Given the description of an element on the screen output the (x, y) to click on. 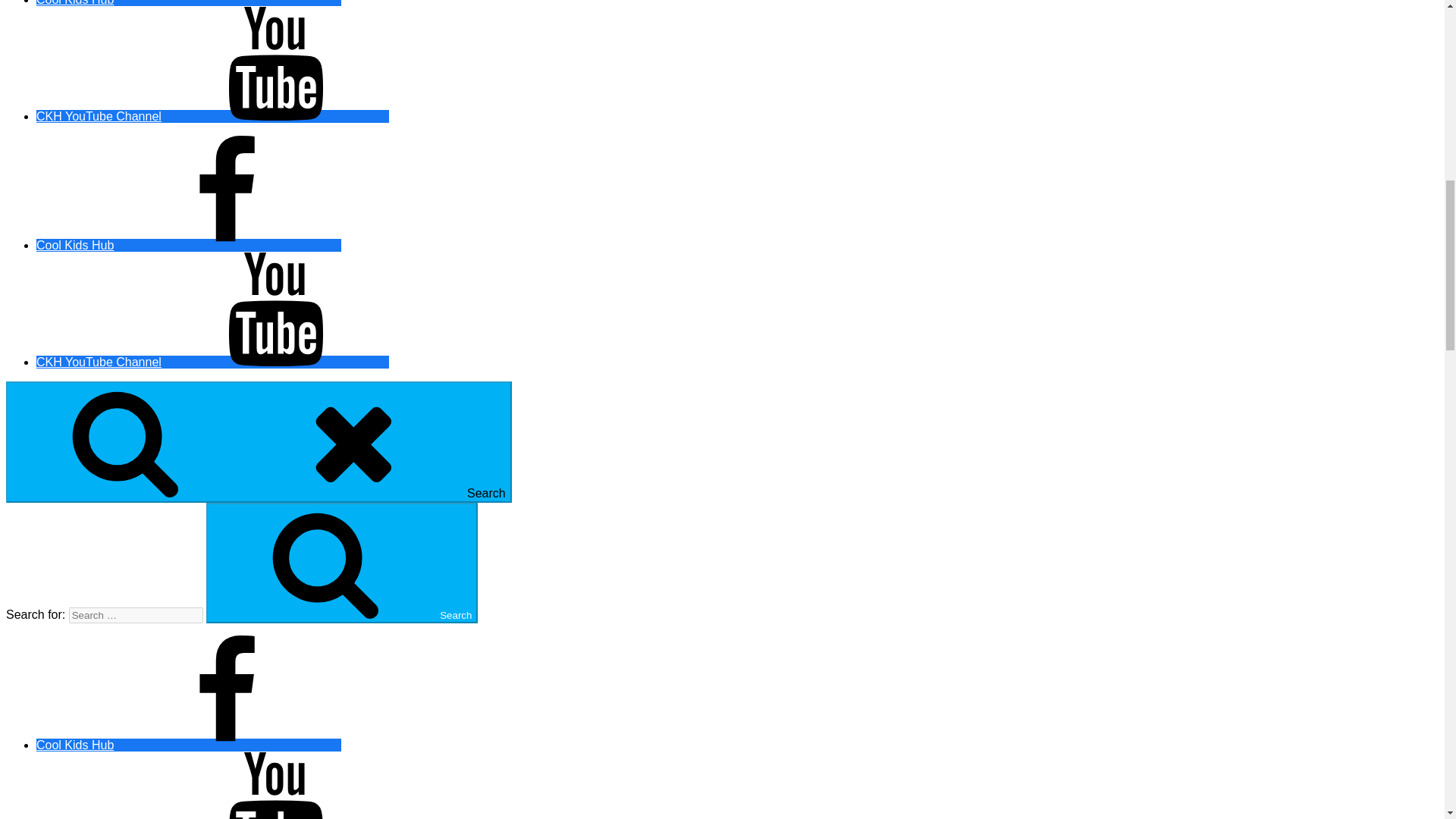
CKH YouTube Channel (212, 361)
Cool Kids Hub (188, 245)
Search (258, 441)
Cool Kids Hub (188, 744)
Cool Kids Hub (188, 2)
CKH YouTube Channel (212, 115)
Search (341, 562)
